Given the description of an element on the screen output the (x, y) to click on. 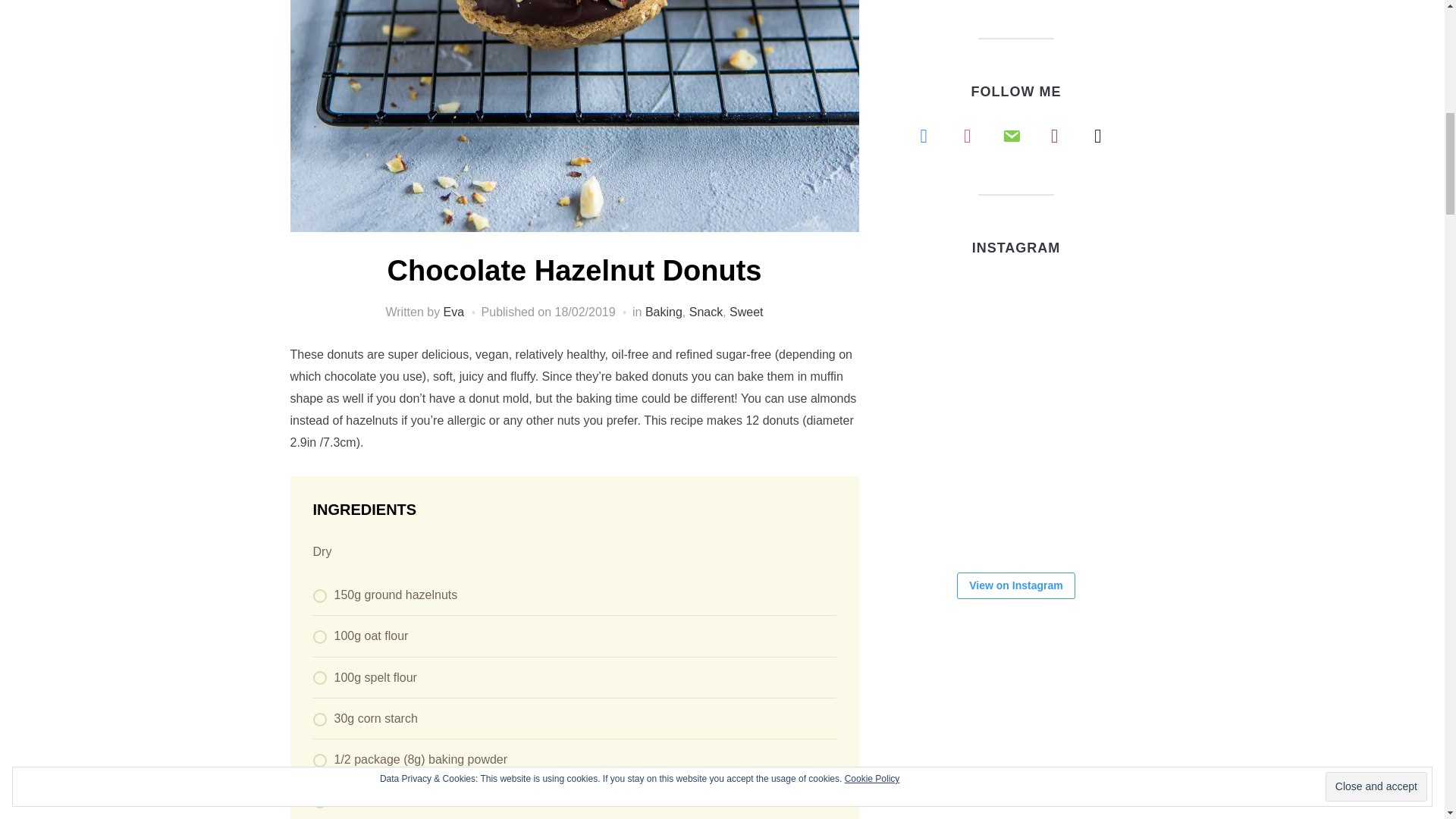
Posts by Eva (454, 311)
